Given the description of an element on the screen output the (x, y) to click on. 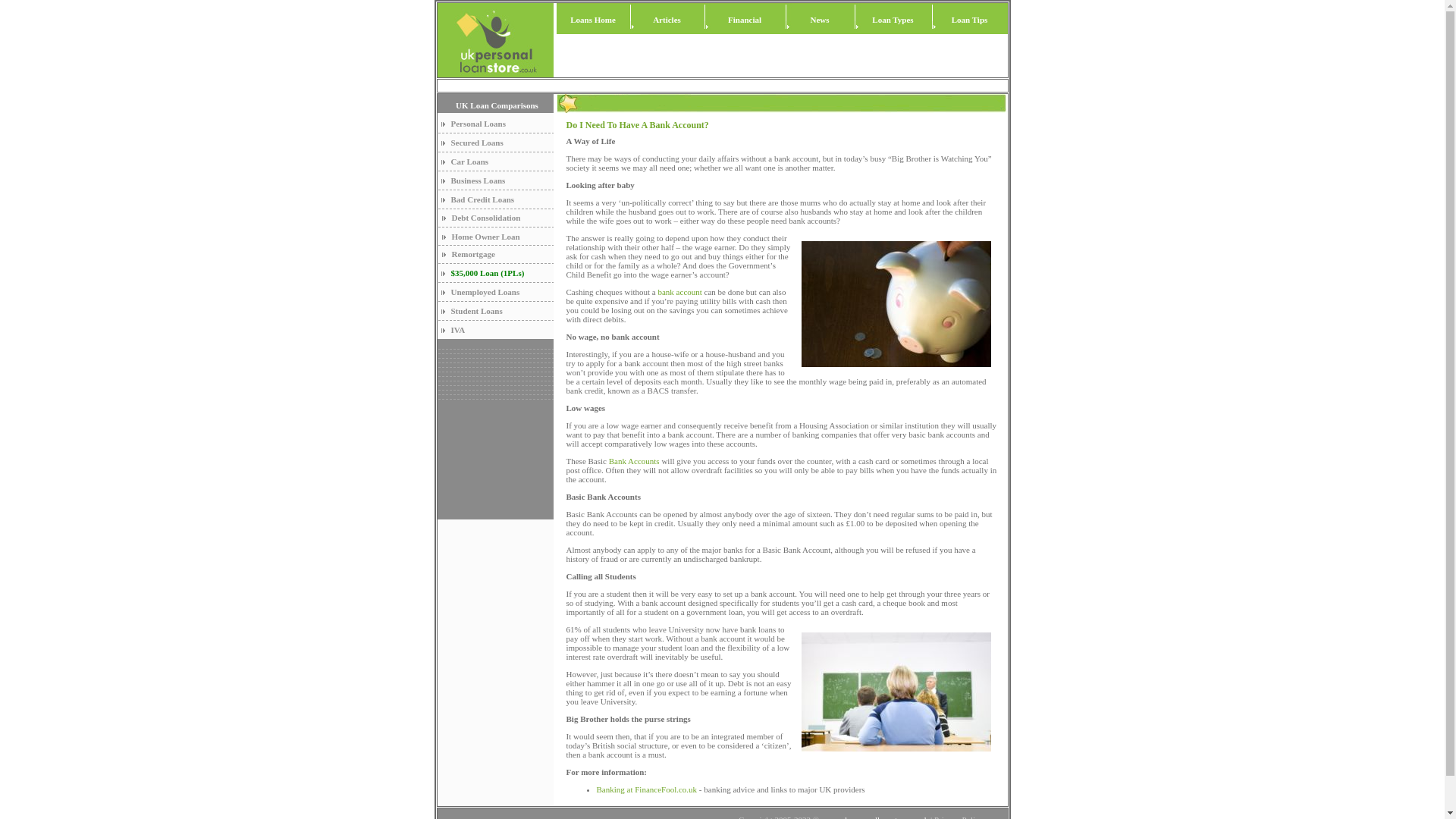
Loan Types (892, 19)
www.ukpersonalloanstore.co.uk (874, 816)
IVA (456, 329)
Secured Loans (475, 142)
Financial (744, 19)
Banking at FinanceFool.co.uk (646, 788)
Articles (666, 19)
Remortgage (473, 253)
Privacy Policy (958, 816)
Loan Tips (970, 19)
Home Owner Loan (485, 235)
Bad Credit Loans (481, 198)
Unemployed Loans (484, 291)
1PLs Company - Loans up to 35000 dollar (486, 272)
News (818, 19)
